Given the description of an element on the screen output the (x, y) to click on. 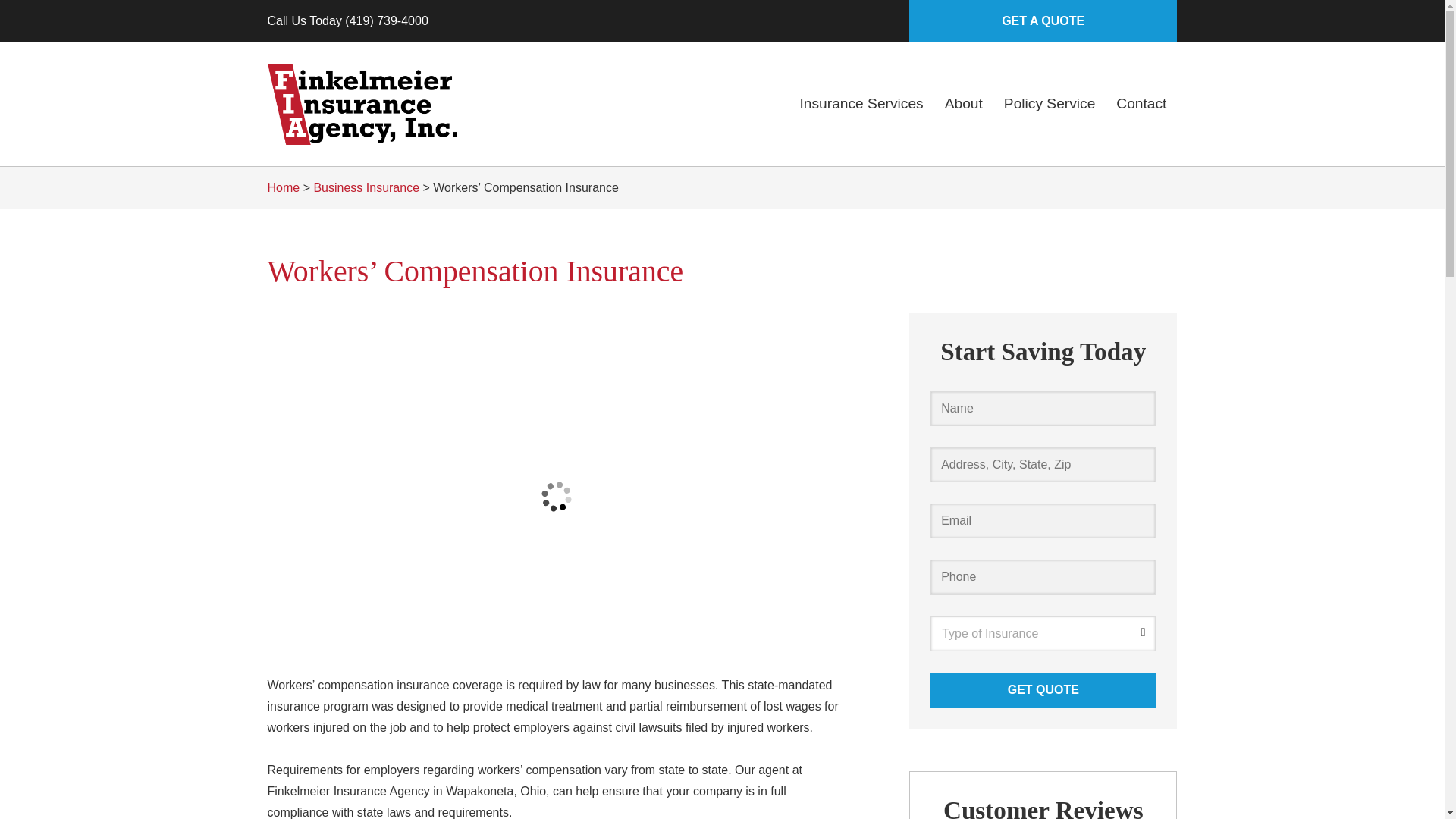
About (963, 103)
logo (361, 103)
GET A QUOTE (1042, 21)
Get Quote (1043, 689)
Insurance Services (861, 103)
